Given the description of an element on the screen output the (x, y) to click on. 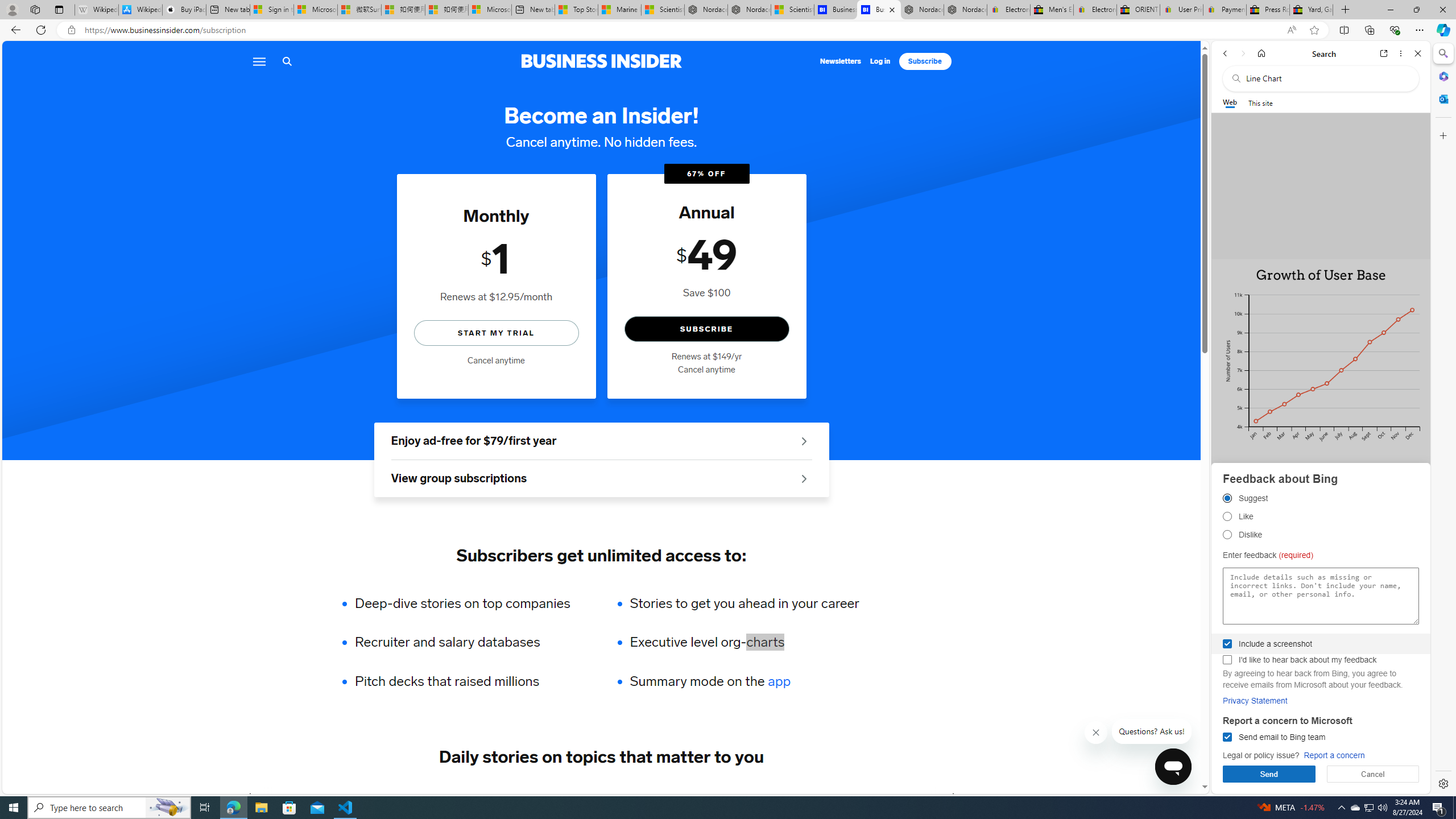
Send (1269, 773)
Deep-dive stories on top companies (470, 602)
TECH (280, 796)
Pitch decks that raised millions (470, 681)
Menu icon (257, 61)
app (778, 681)
Summary mode on the app (743, 681)
STRATEGY (890, 796)
